Given the description of an element on the screen output the (x, y) to click on. 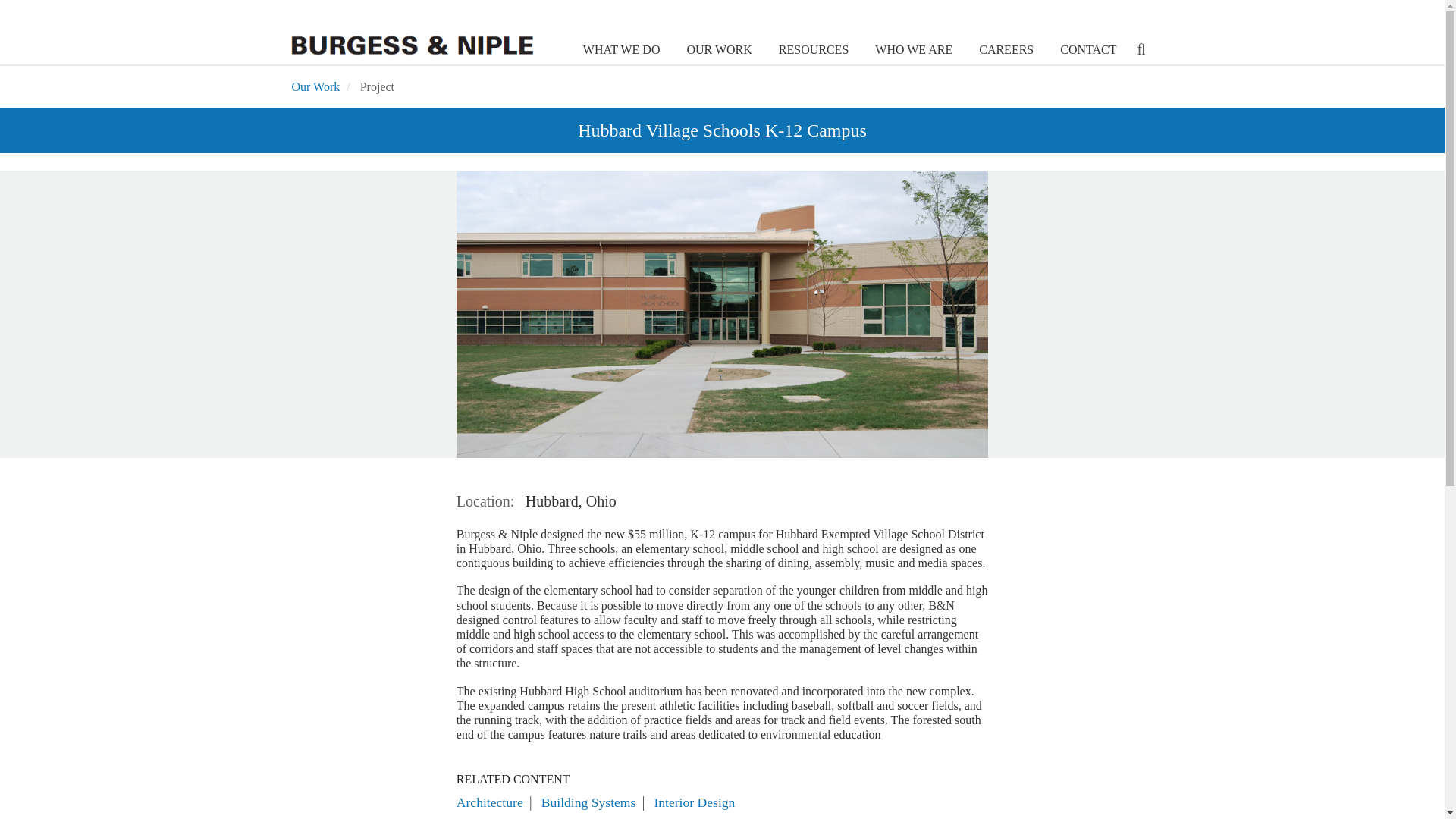
Skip to content (17, 1)
OUR WORK (716, 50)
Building Systems (588, 801)
Our Work (315, 86)
RESOURCES (811, 50)
CAREERS (1004, 50)
Architecture (489, 801)
